Given the description of an element on the screen output the (x, y) to click on. 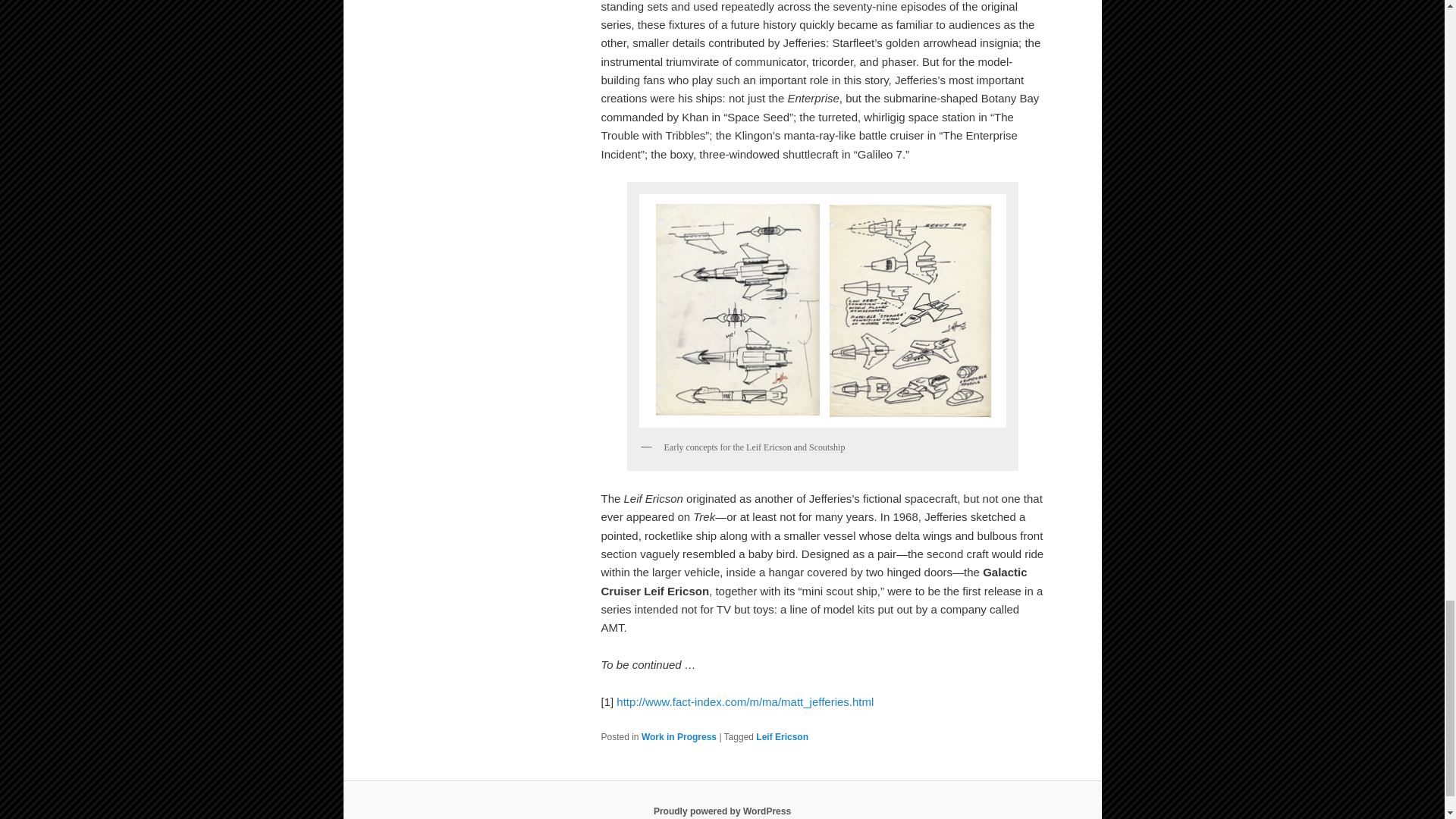
Leif Ericson (781, 737)
Semantic Personal Publishing Platform (721, 810)
Work in Progress (679, 737)
